Given the description of an element on the screen output the (x, y) to click on. 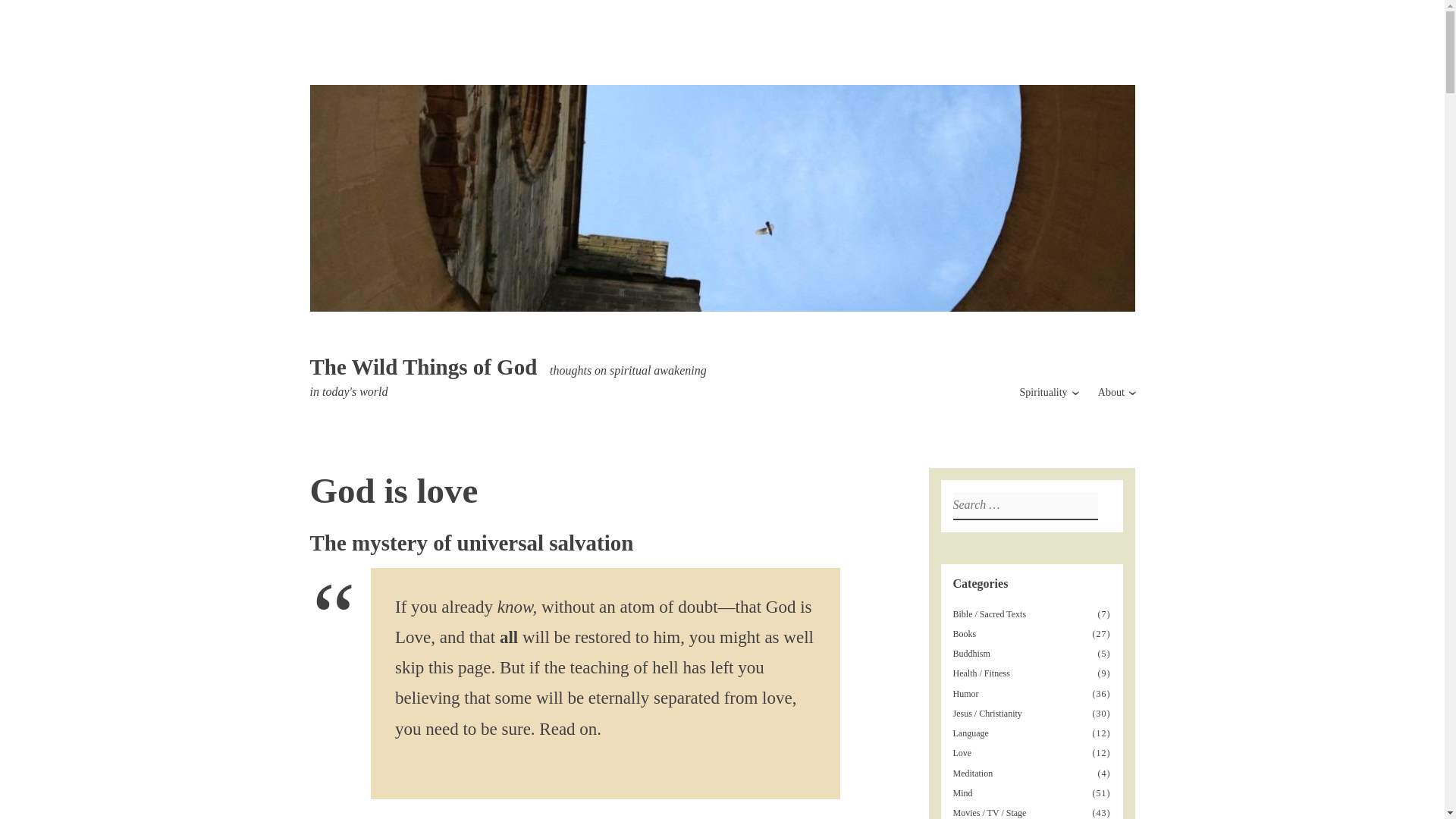
Spirituality (1043, 392)
Buddhism (973, 653)
Books (965, 633)
Humor (966, 693)
Search (17, 13)
About (1110, 392)
The Wild Things of God (422, 366)
